Given the description of an element on the screen output the (x, y) to click on. 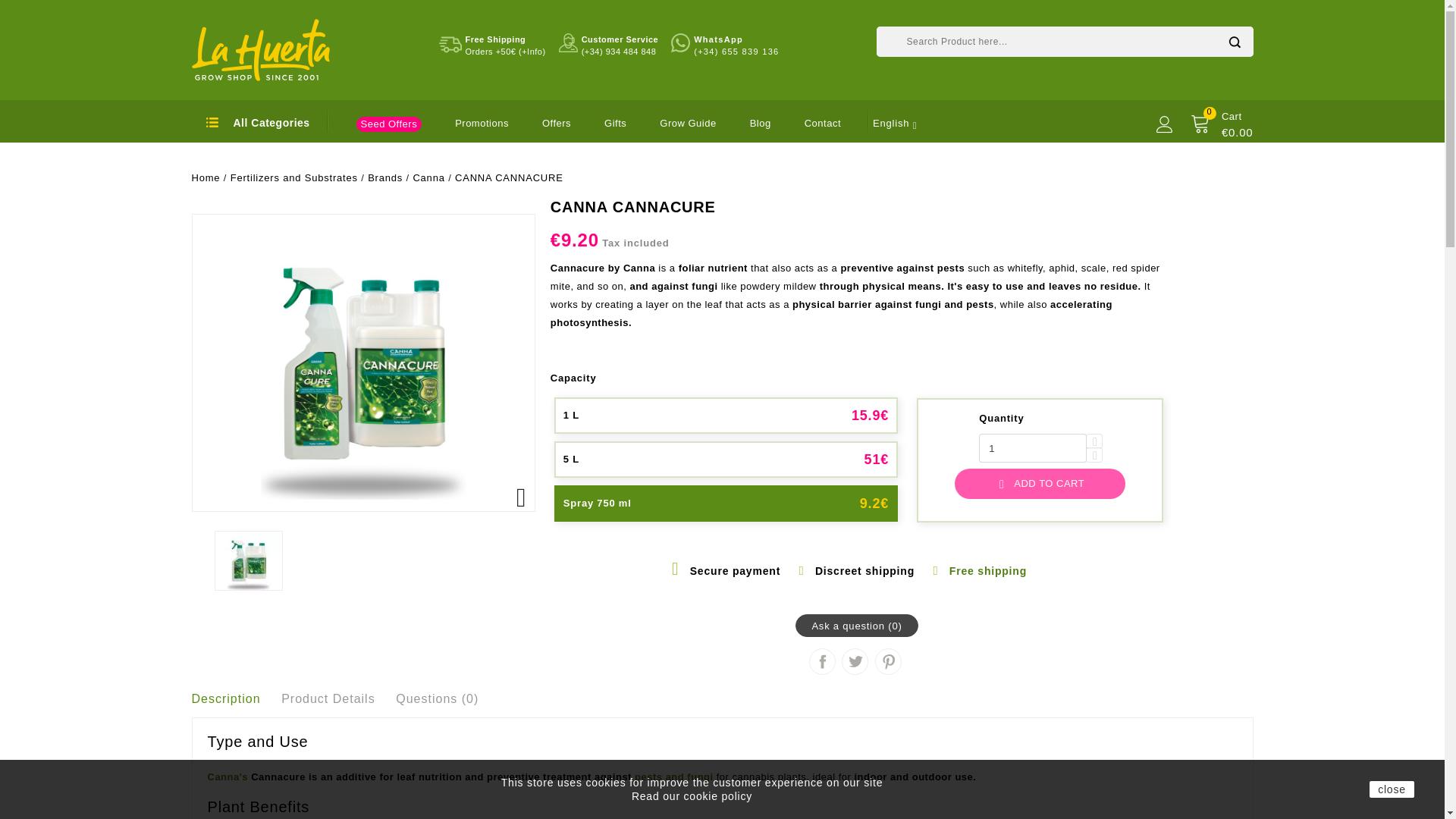
Contact (823, 123)
Log in to your customer account (1163, 124)
Share (821, 661)
Blog (760, 123)
Promotions (481, 123)
Search (1233, 41)
Grow guide (687, 123)
Offers (555, 123)
1 (1032, 448)
Seed Offers (389, 124)
Gifts (615, 123)
